Given the description of an element on the screen output the (x, y) to click on. 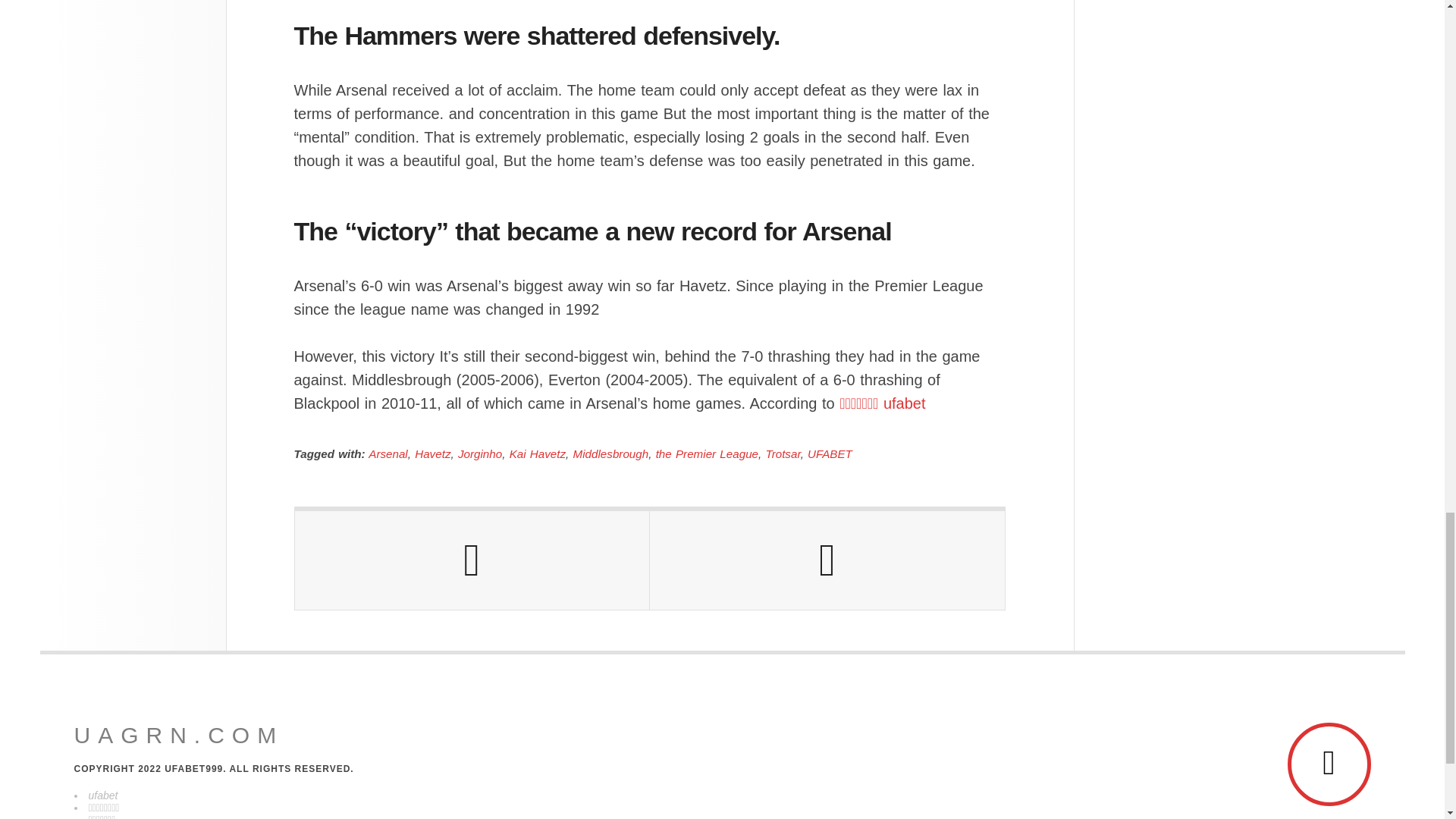
Jorginho (480, 453)
Havetz (431, 453)
Next Post (826, 560)
uagrn.com (178, 735)
Middlesbrough (611, 453)
Previous Post (471, 560)
Kai Havetz (537, 453)
Arsenal (387, 453)
the Premier League (707, 453)
Trotsar (782, 453)
